Given the description of an element on the screen output the (x, y) to click on. 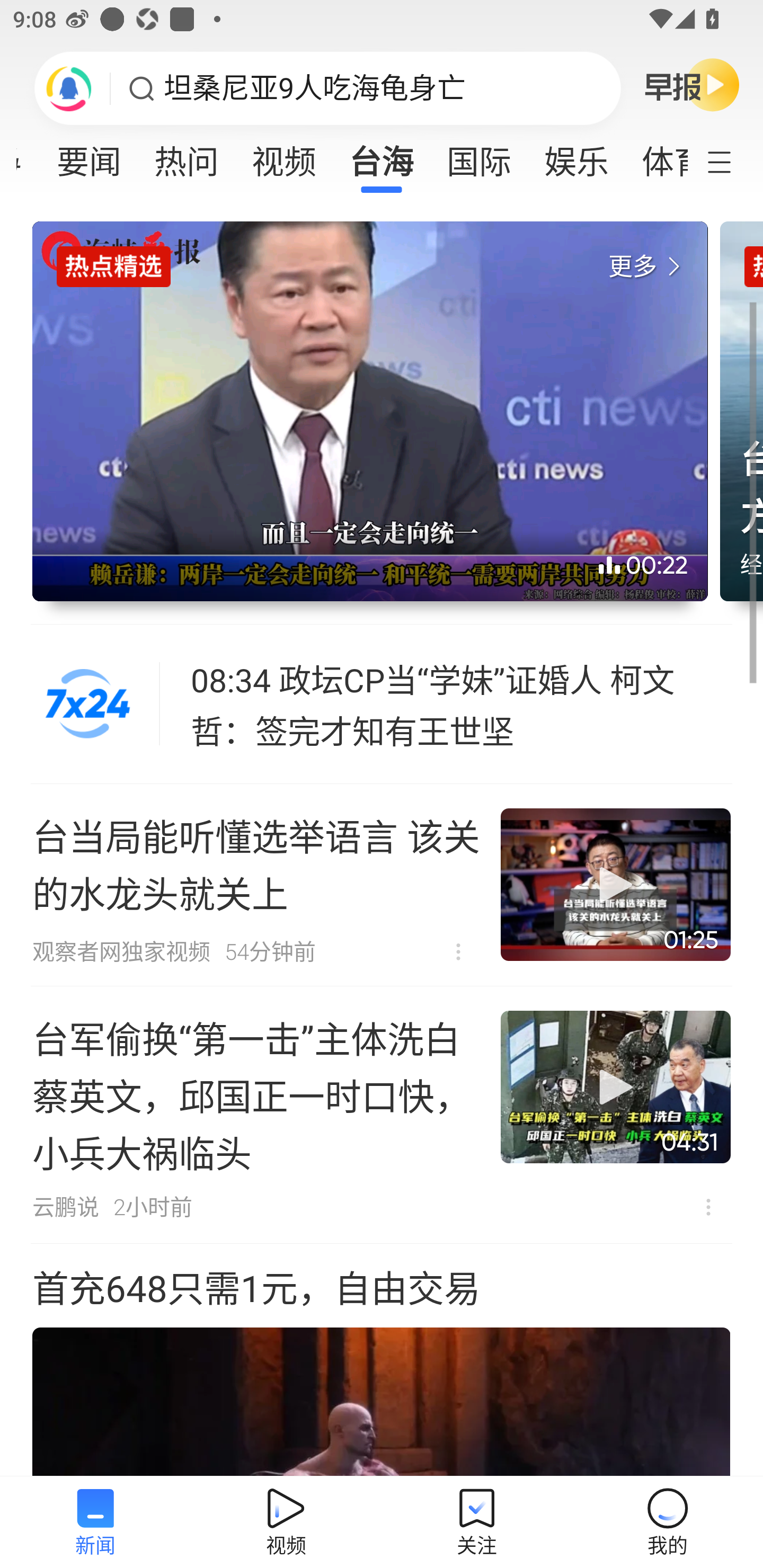
早晚报 (691, 84)
刷新 (68, 88)
坦桑尼亚9人吃海龟身亡 (314, 88)
要闻 (89, 155)
热问 (186, 155)
视频 (283, 155)
台海 (381, 155)
国际 (478, 155)
娱乐 (575, 155)
 定制频道 (731, 160)
更多  (648, 267)
08:34 政坛CP当“学妹”证婚人 柯文哲：签完才知有王世坚 (461, 704)
台当局能听懂选举语言 该关的水龙头就关上 观察者网独家视频 54分钟前  不感兴趣 01:25 (381, 885)
 不感兴趣 (458, 951)
 不感兴趣 (707, 1207)
首充648只需1元，自由交易 (381, 1360)
